Given the description of an element on the screen output the (x, y) to click on. 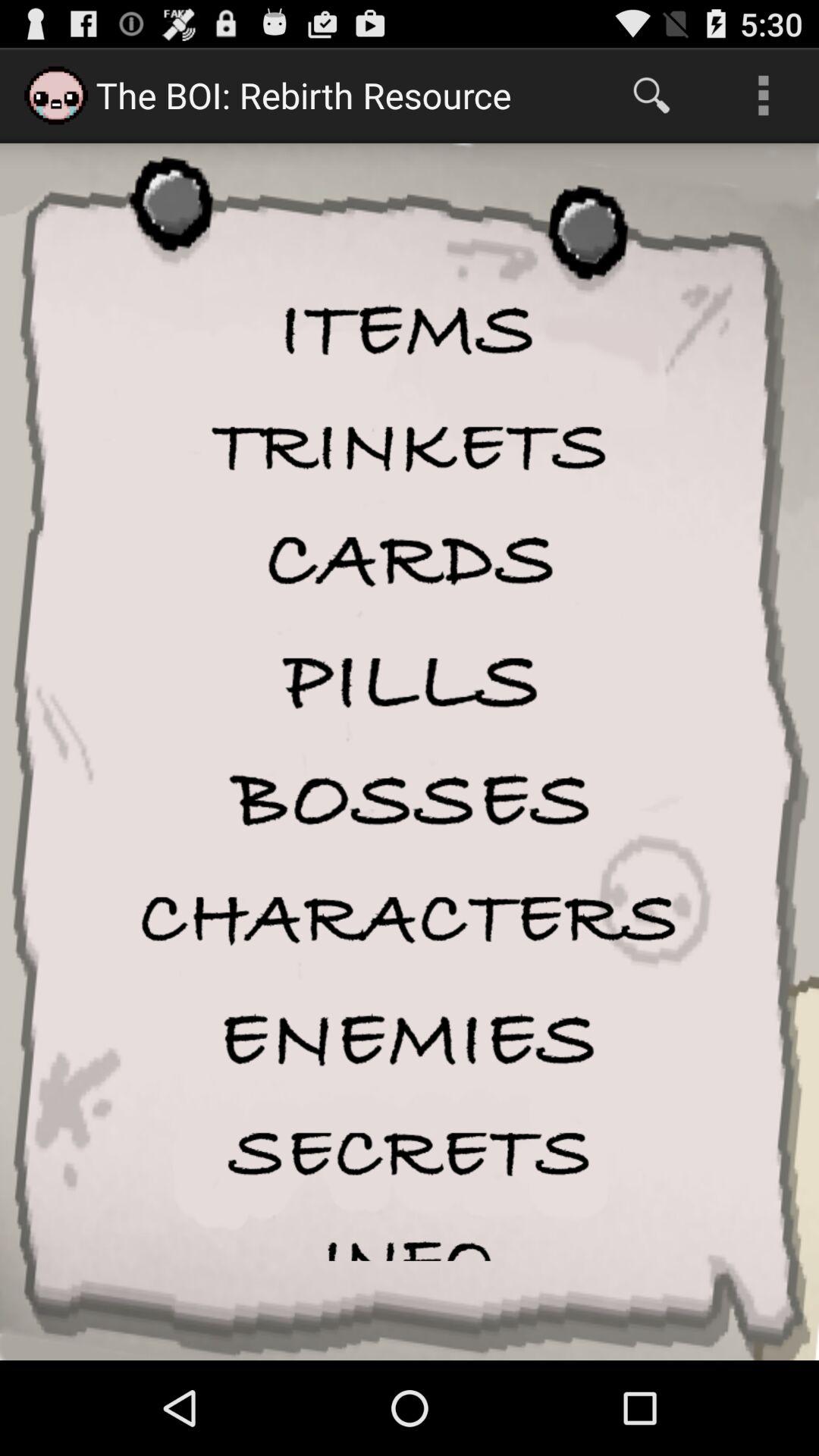
secrets option (409, 1153)
